Given the description of an element on the screen output the (x, y) to click on. 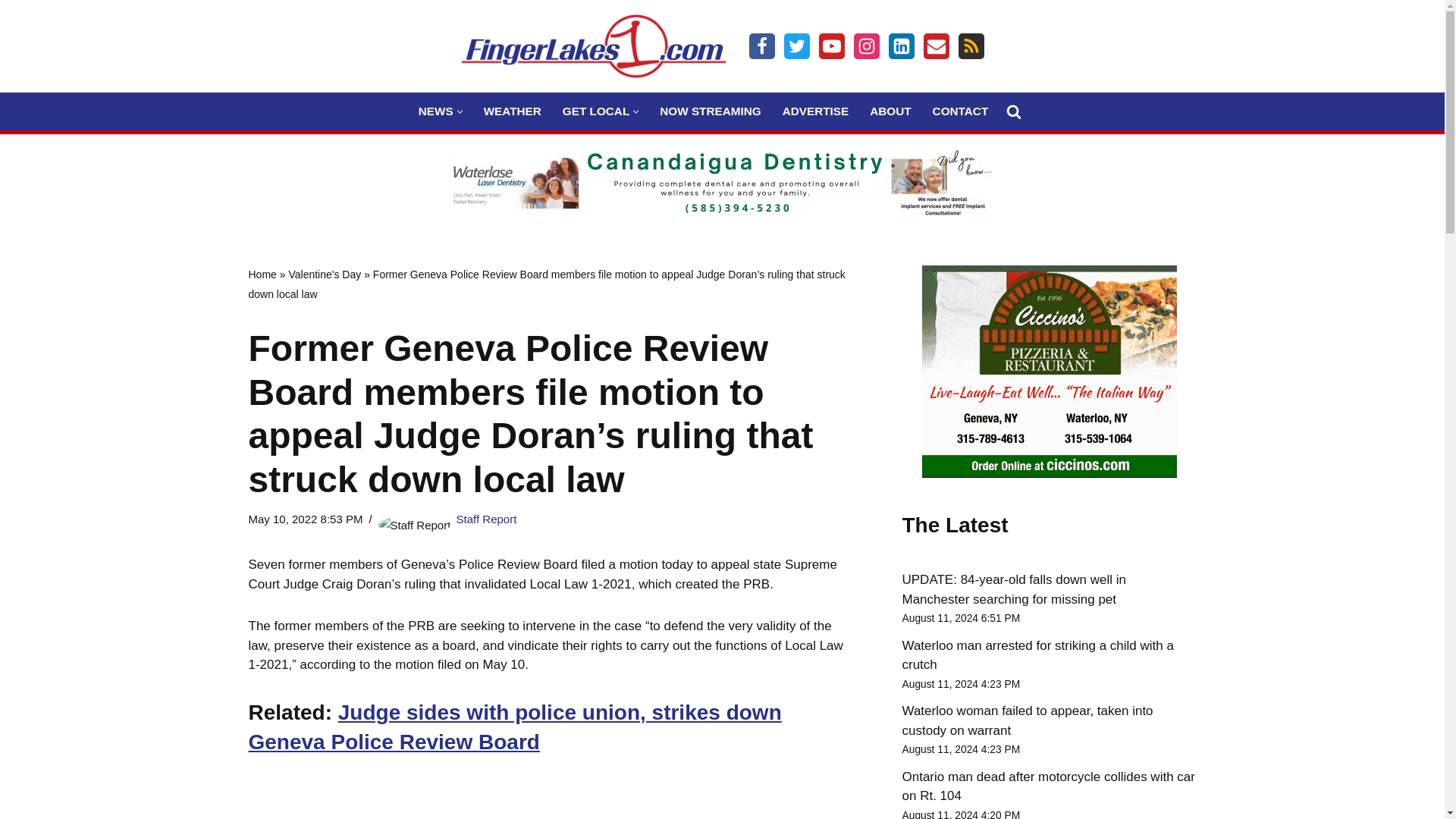
NEWS (435, 111)
Posts by Staff Report (486, 518)
Facebook (761, 45)
ADVERTISE (815, 111)
GET LOCAL (595, 111)
LinkIn (901, 45)
WEATHER (512, 111)
ABOUT (890, 111)
Email Us (936, 45)
Youtube (831, 45)
